Given the description of an element on the screen output the (x, y) to click on. 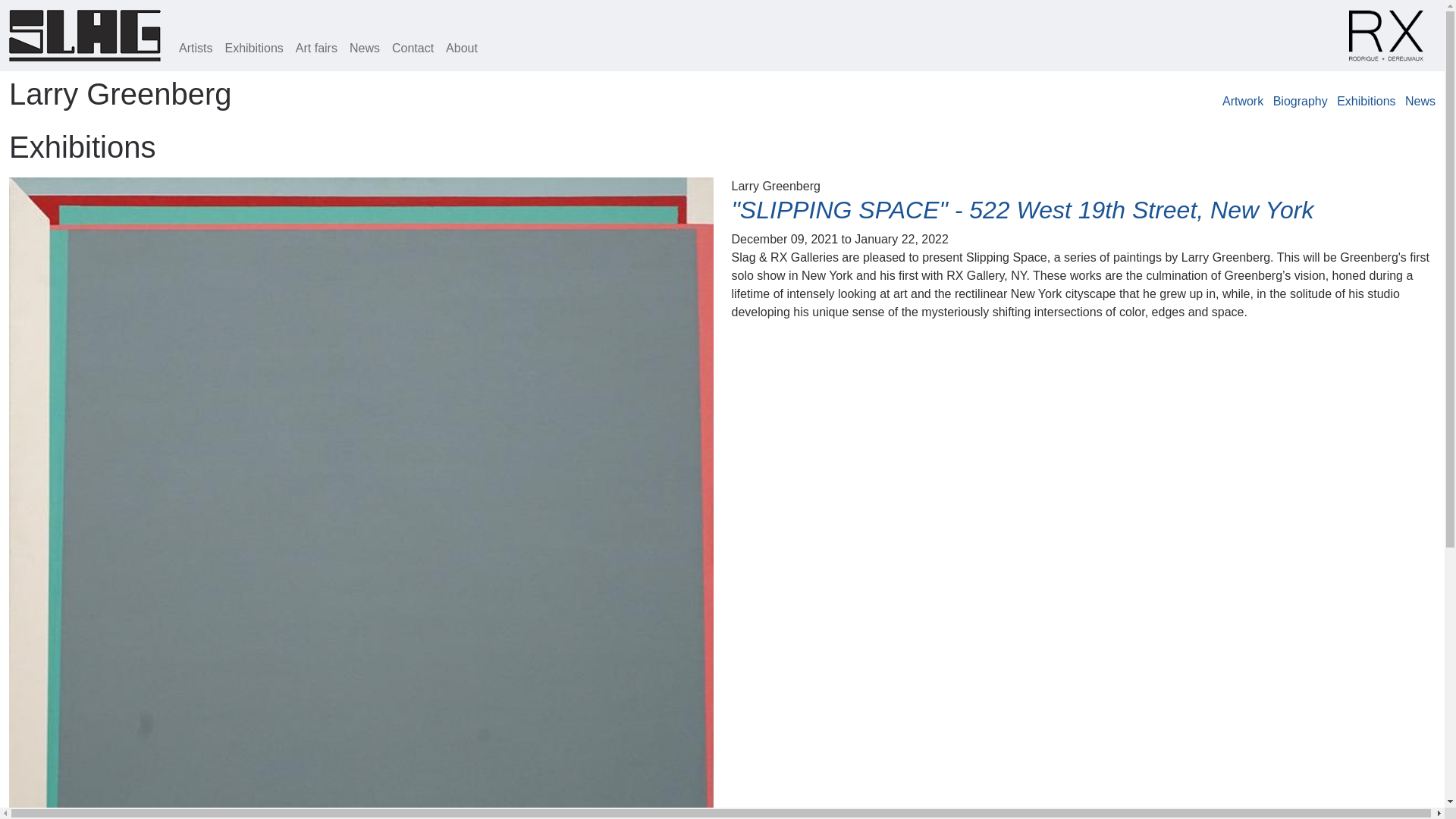
"SLIPPING SPACE" - 522 West 19th Street, New York (1021, 209)
Exhibitions (253, 48)
Artists (195, 48)
Biography (1299, 101)
About (461, 48)
Artwork (1243, 101)
Exhibitions (1365, 101)
News (364, 48)
Contact (412, 48)
Art fairs (316, 48)
